Given the description of an element on the screen output the (x, y) to click on. 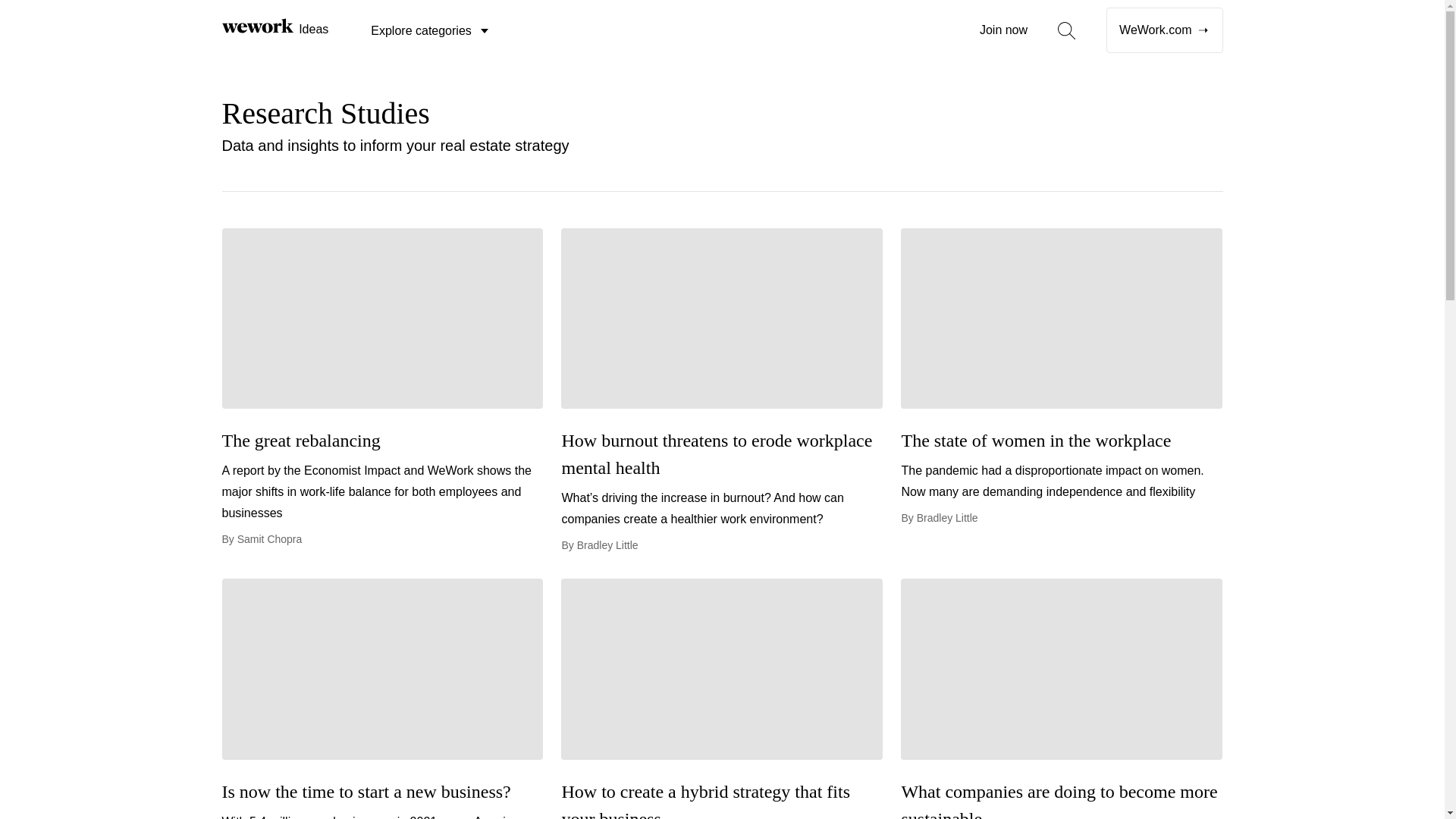
Ideas (275, 28)
WeWork.com (1164, 29)
Search (515, 59)
Join now (1003, 29)
